Given the description of an element on the screen output the (x, y) to click on. 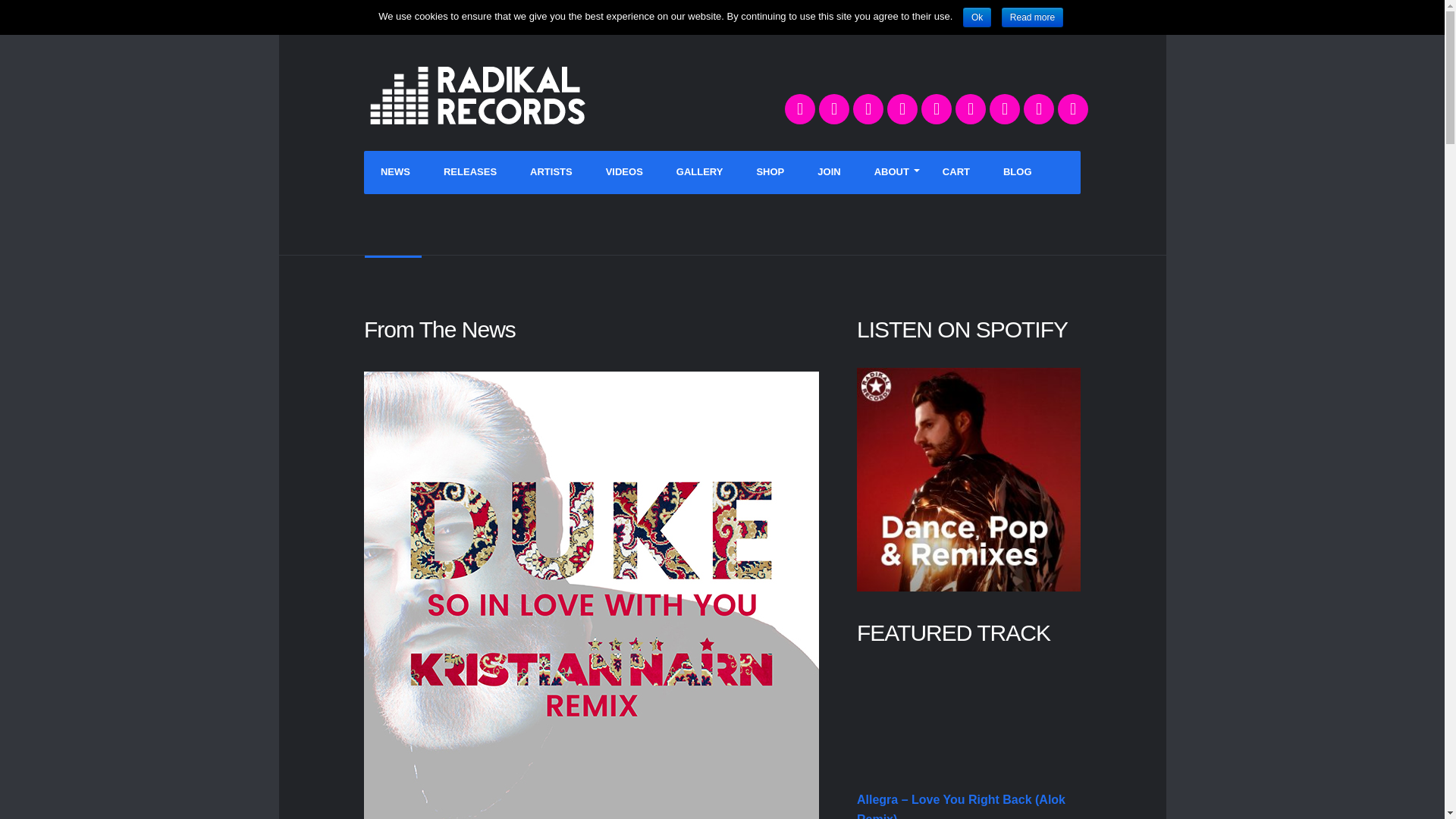
Facebook (833, 109)
Spotify (1072, 109)
SHOP (769, 172)
Tumblr (901, 109)
BLOG (1017, 172)
Soundcloud (970, 109)
ABOUT (891, 172)
Twitter (799, 109)
GALLERY (699, 172)
VIDEOS (624, 172)
JOIN (828, 172)
CART (956, 172)
YouTube (868, 109)
Google Plus (1038, 109)
Instagram (936, 109)
